Given the description of an element on the screen output the (x, y) to click on. 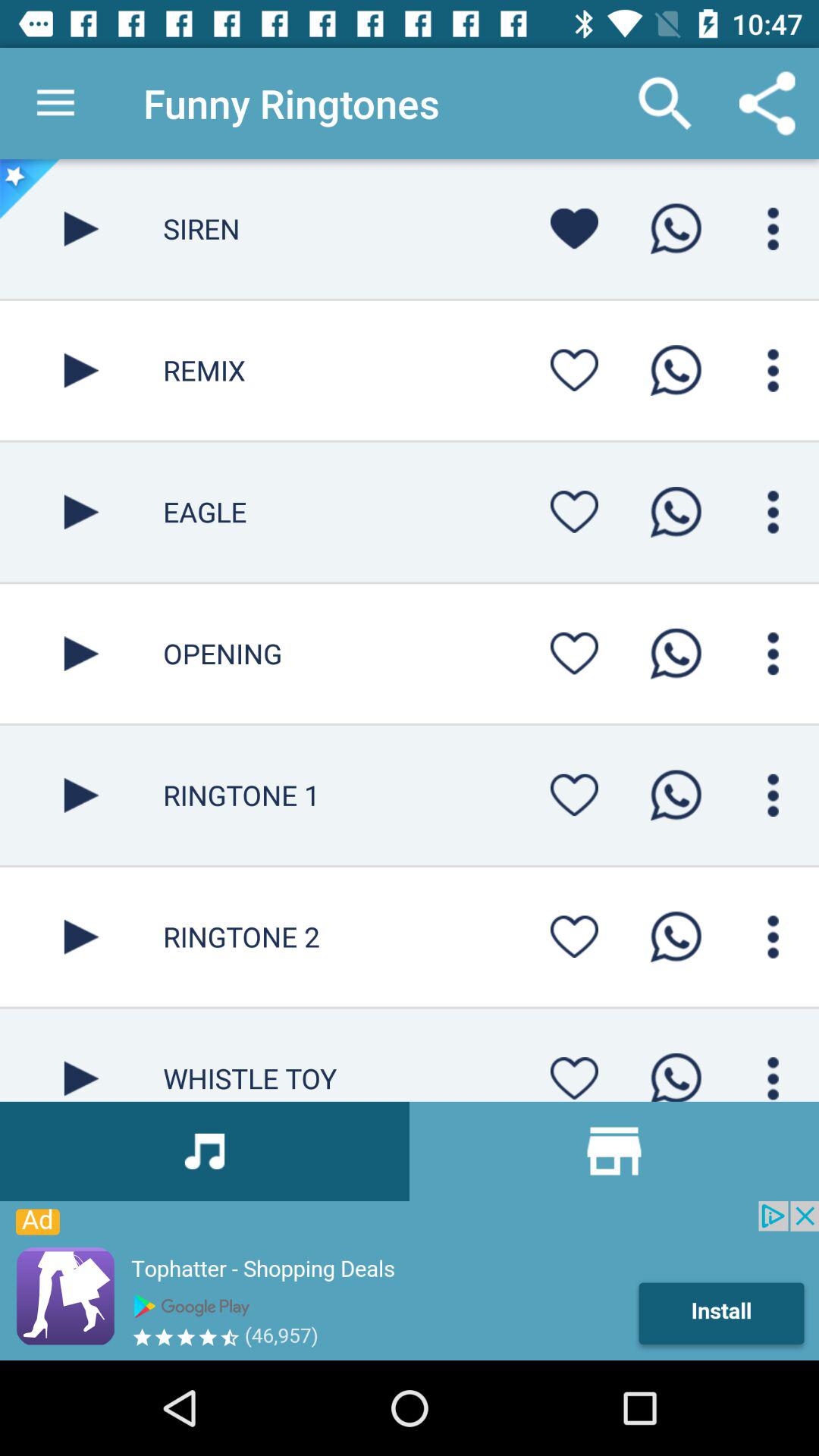
favorites it (574, 369)
